Given the description of an element on the screen output the (x, y) to click on. 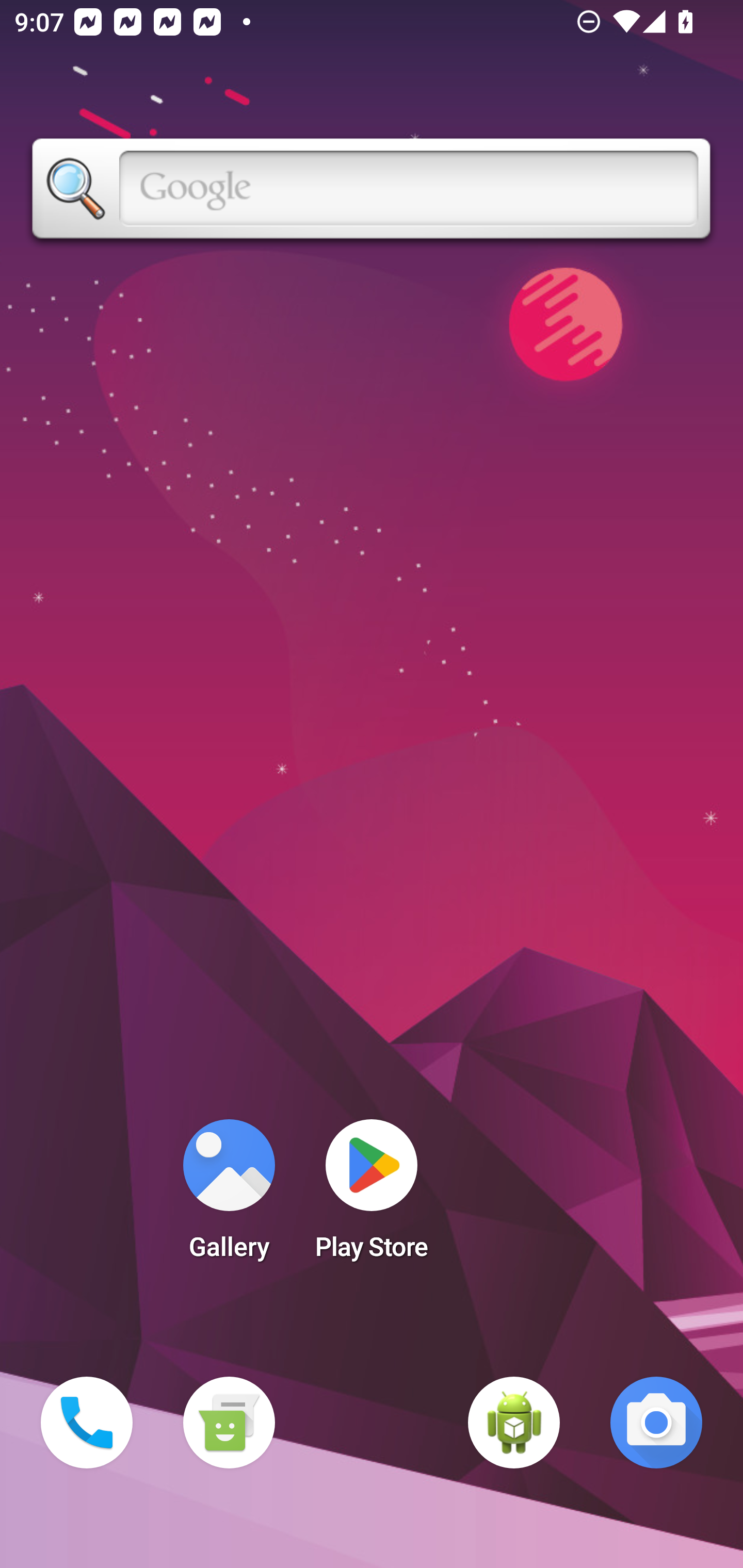
Gallery (228, 1195)
Play Store (371, 1195)
Phone (86, 1422)
Messaging (228, 1422)
WebView Browser Tester (513, 1422)
Camera (656, 1422)
